Given the description of an element on the screen output the (x, y) to click on. 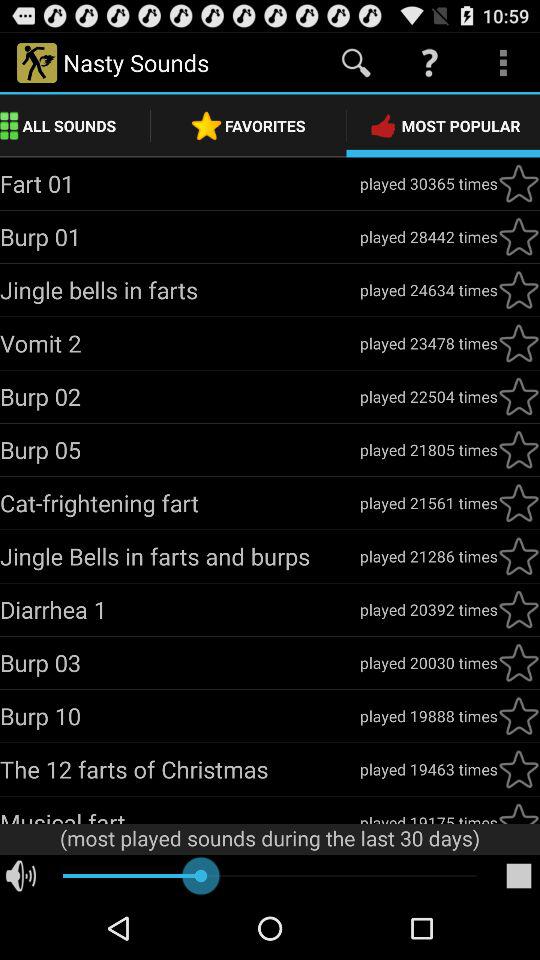
click the app next to the burp 05 item (428, 449)
